Given the description of an element on the screen output the (x, y) to click on. 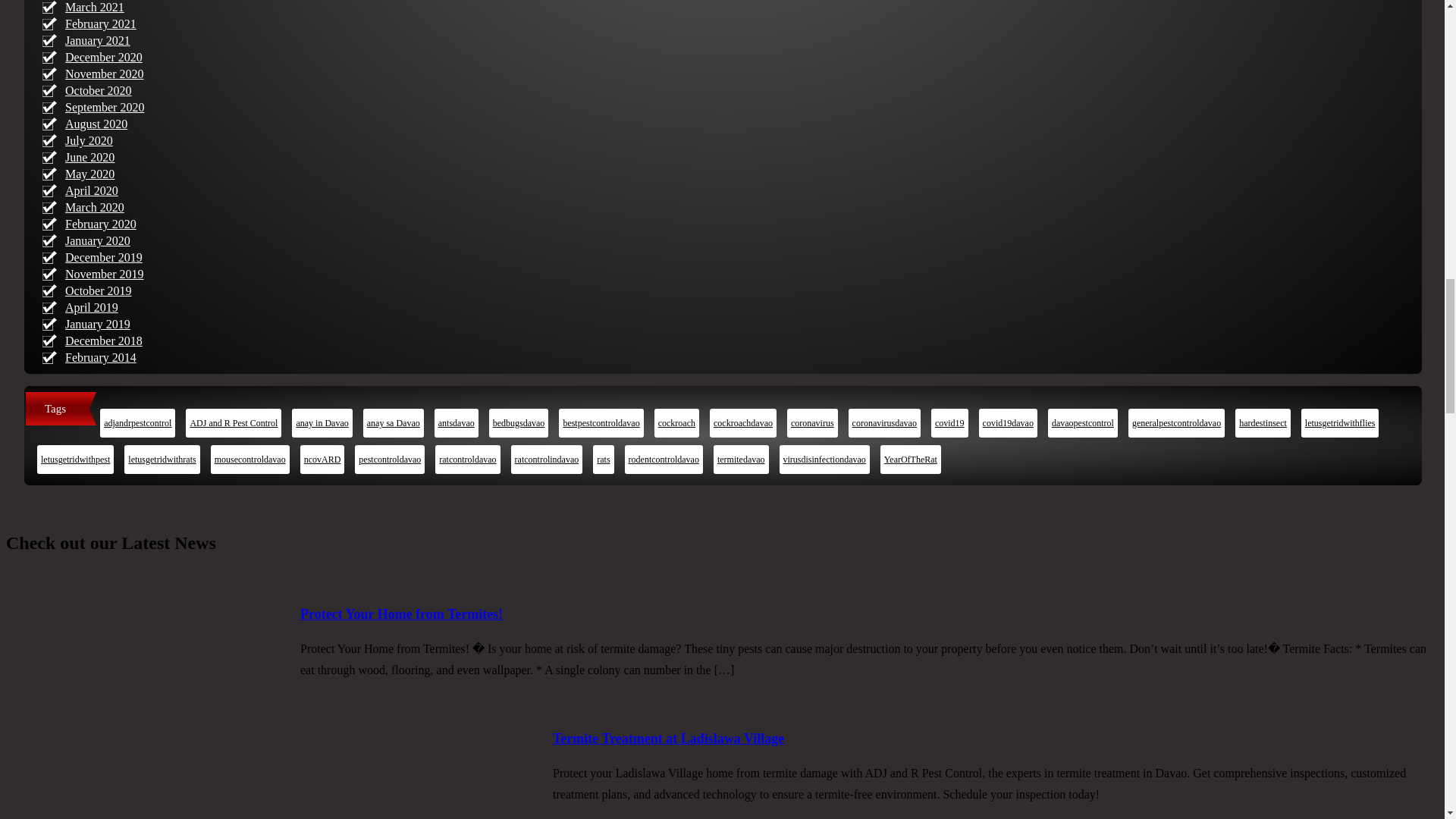
Protect Your Home from Termites! (400, 613)
Termite Treatment at Ladislawa Village (418, 773)
Protect Your Home from Termites! (166, 669)
Termite Treatment at Ladislawa Village (668, 738)
